Given the description of an element on the screen output the (x, y) to click on. 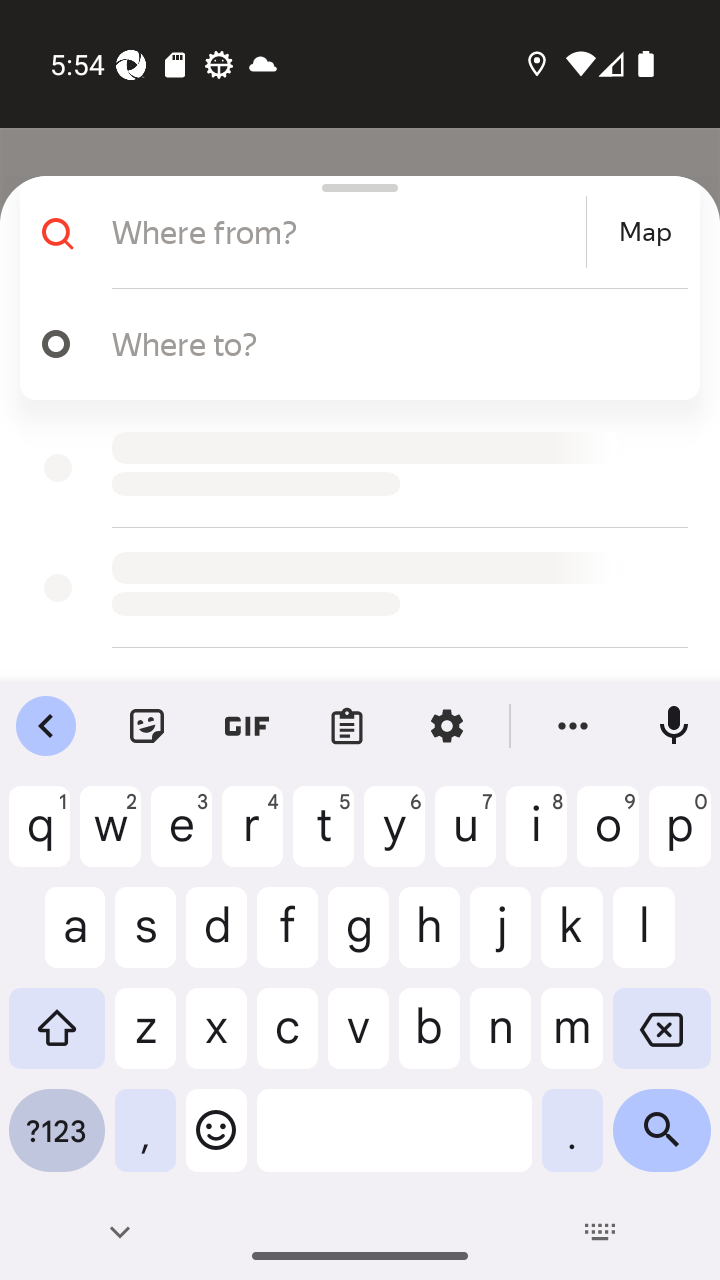
Where from? Map Map (352, 232)
Map (645, 232)
Where from? (346, 232)
Where to? (352, 343)
Where to? (390, 343)
